Given the description of an element on the screen output the (x, y) to click on. 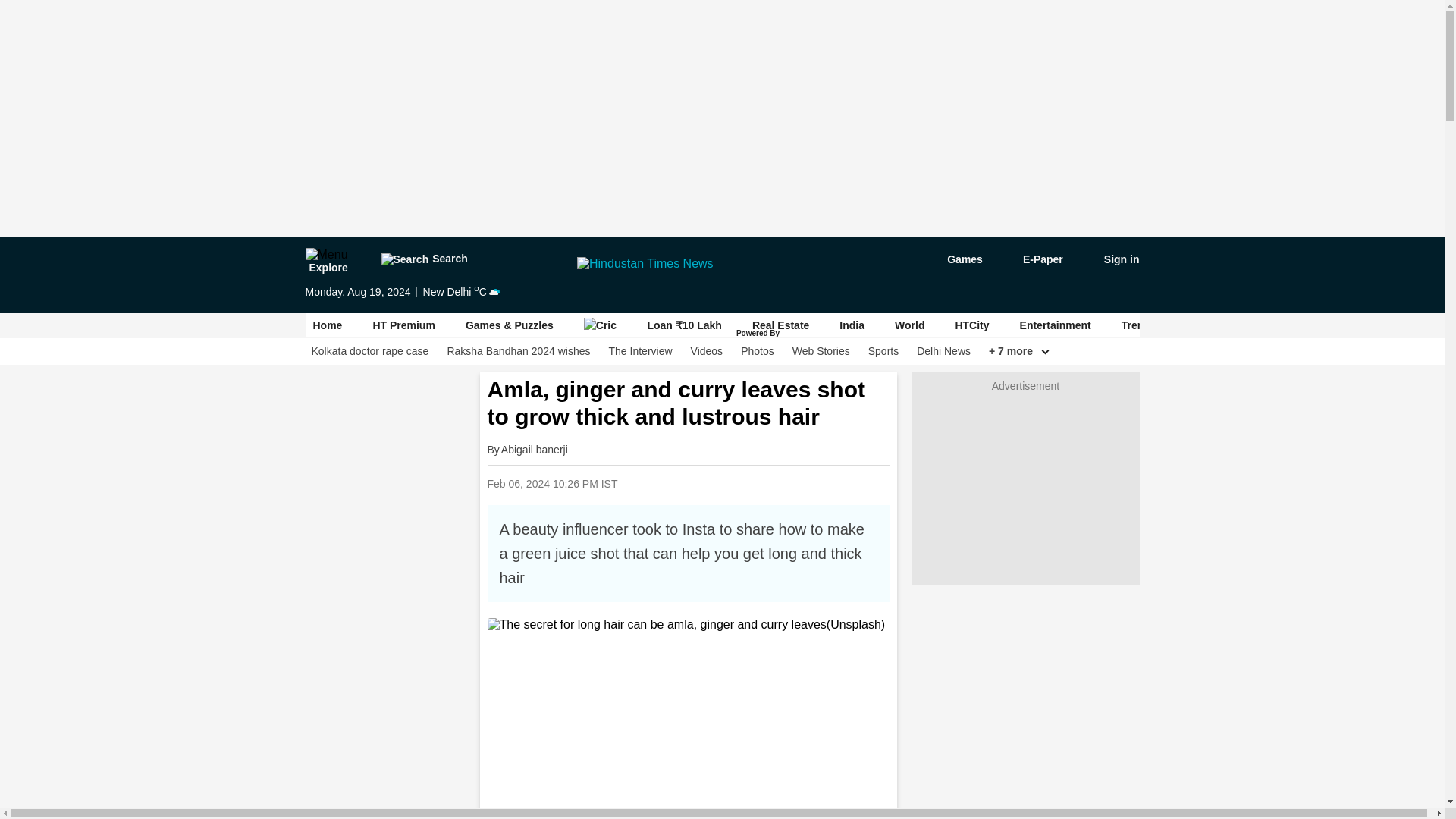
Kolkata doctor rape case (369, 350)
HT Premium (402, 325)
Share on Twitter (749, 483)
Photos (757, 350)
Lifestyle (1297, 325)
E-Paper (1034, 258)
Entertainment (1055, 325)
Astrology (1221, 325)
Sports (882, 350)
Real Estate (780, 324)
